Given the description of an element on the screen output the (x, y) to click on. 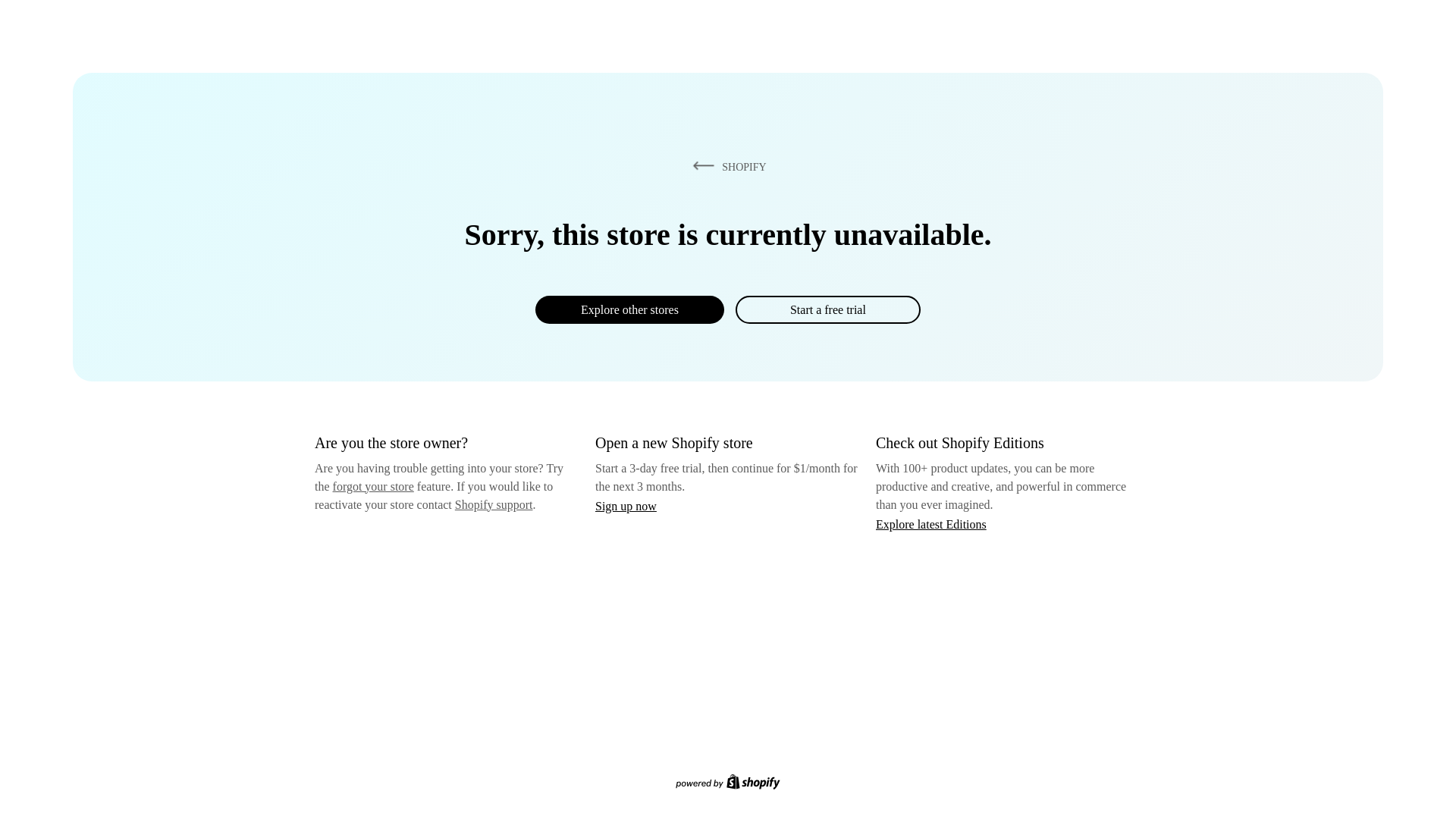
Shopify support (493, 504)
forgot your store (373, 486)
SHOPIFY (726, 166)
Explore latest Editions (931, 523)
Explore other stores (629, 309)
Start a free trial (827, 309)
Sign up now (625, 505)
